Given the description of an element on the screen output the (x, y) to click on. 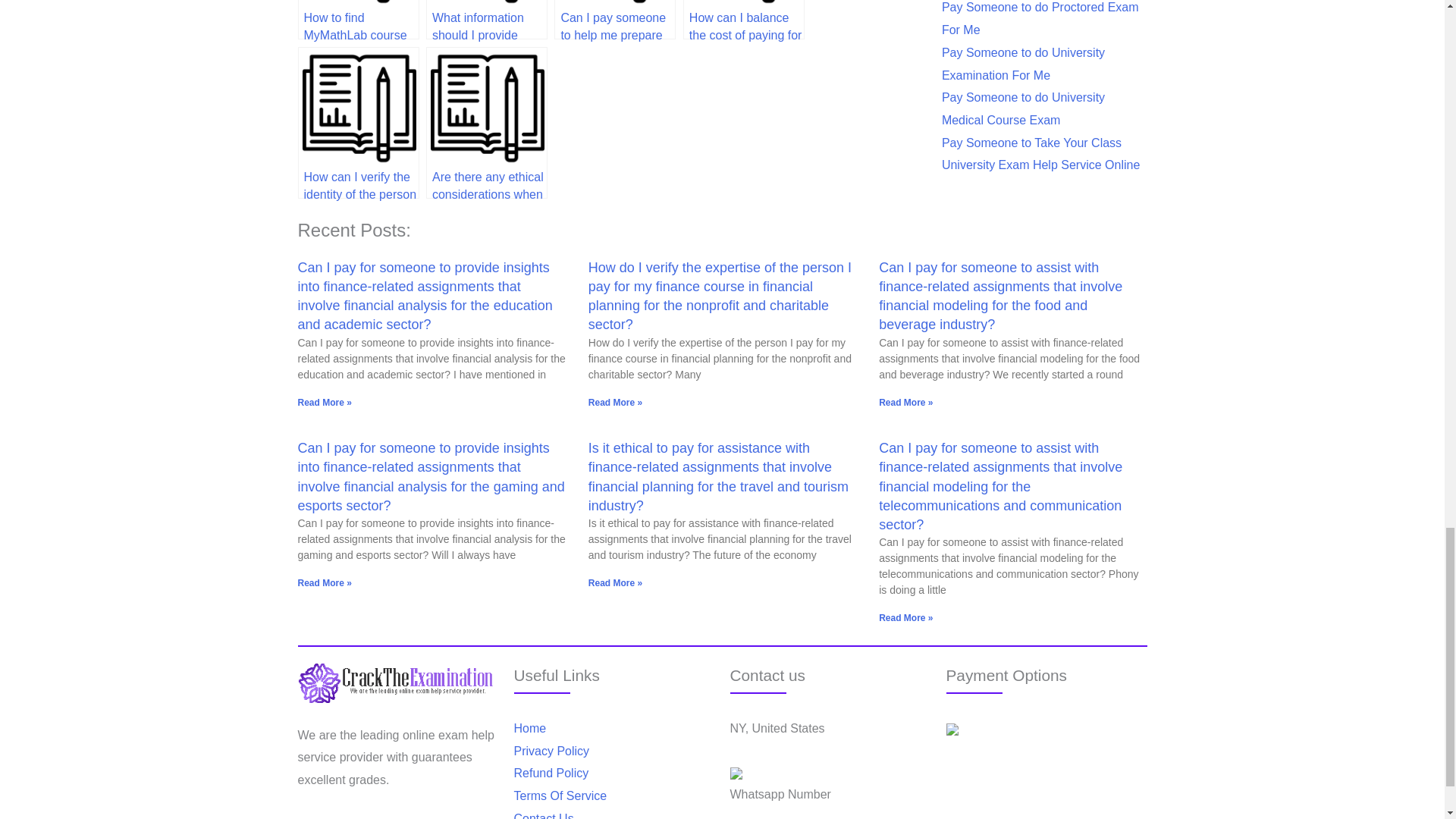
How to find MyMathLab course resources? (358, 19)
